Given the description of an element on the screen output the (x, y) to click on. 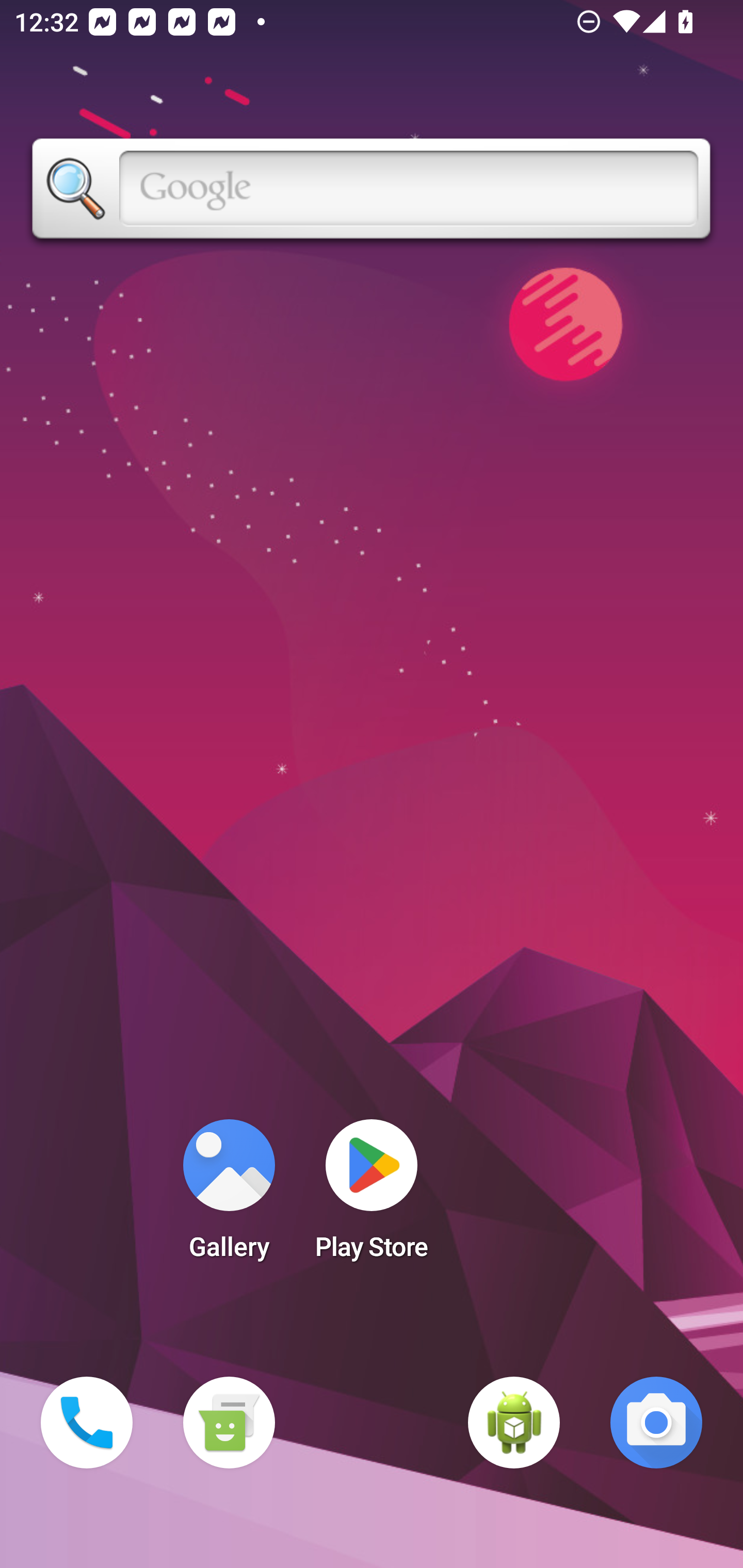
Gallery (228, 1195)
Play Store (371, 1195)
Phone (86, 1422)
Messaging (228, 1422)
WebView Browser Tester (513, 1422)
Camera (656, 1422)
